Given the description of an element on the screen output the (x, y) to click on. 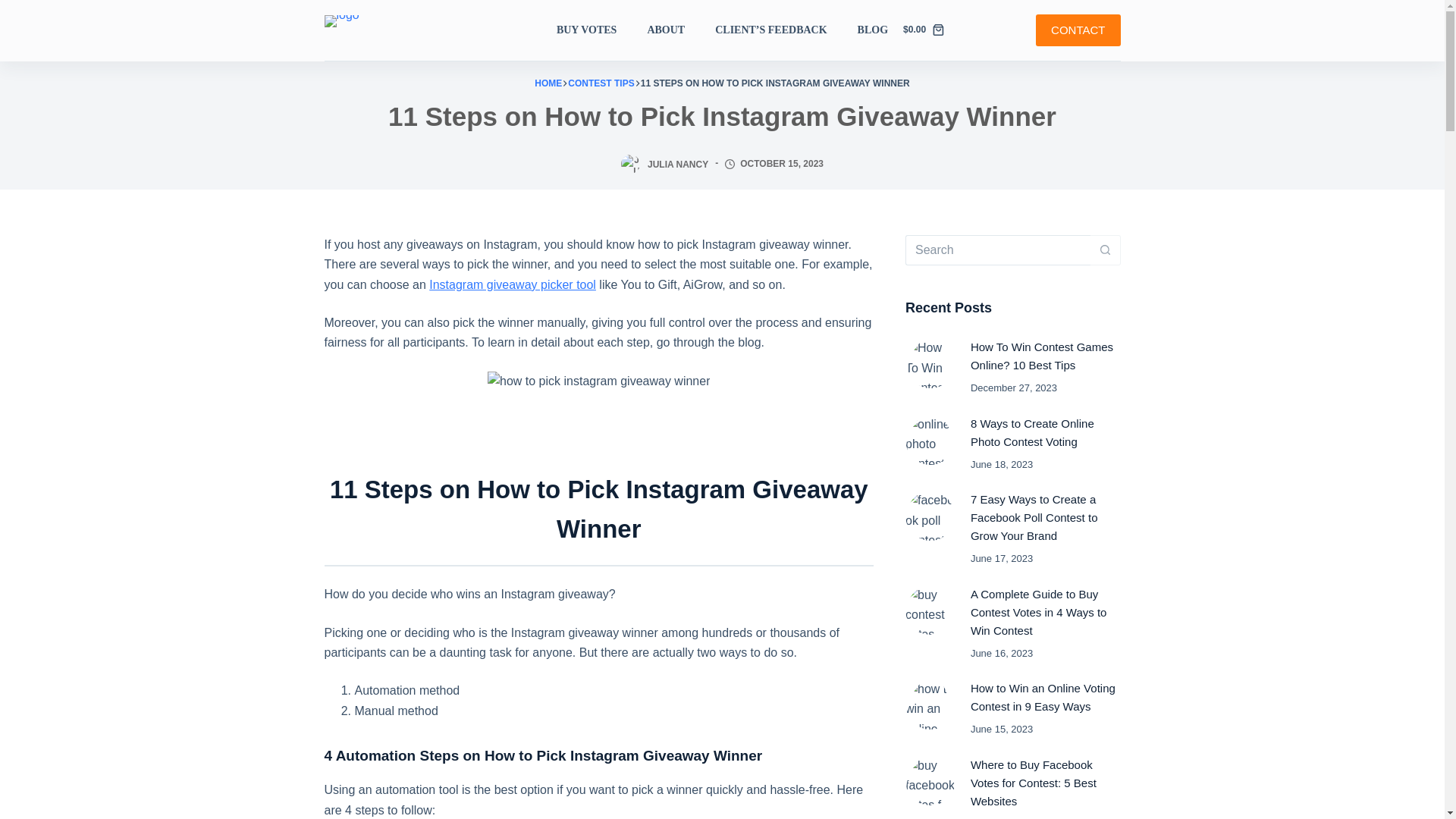
BUY VOTES (593, 30)
JULIA NANCY (677, 163)
ABOUT (665, 30)
CONTACT (1077, 29)
HOME (548, 82)
Skip to content (15, 7)
Instagram giveaway picker tool (512, 284)
Where to Buy Facebook Votes for Contest: 5 Best Websites (1033, 782)
